Given the description of an element on the screen output the (x, y) to click on. 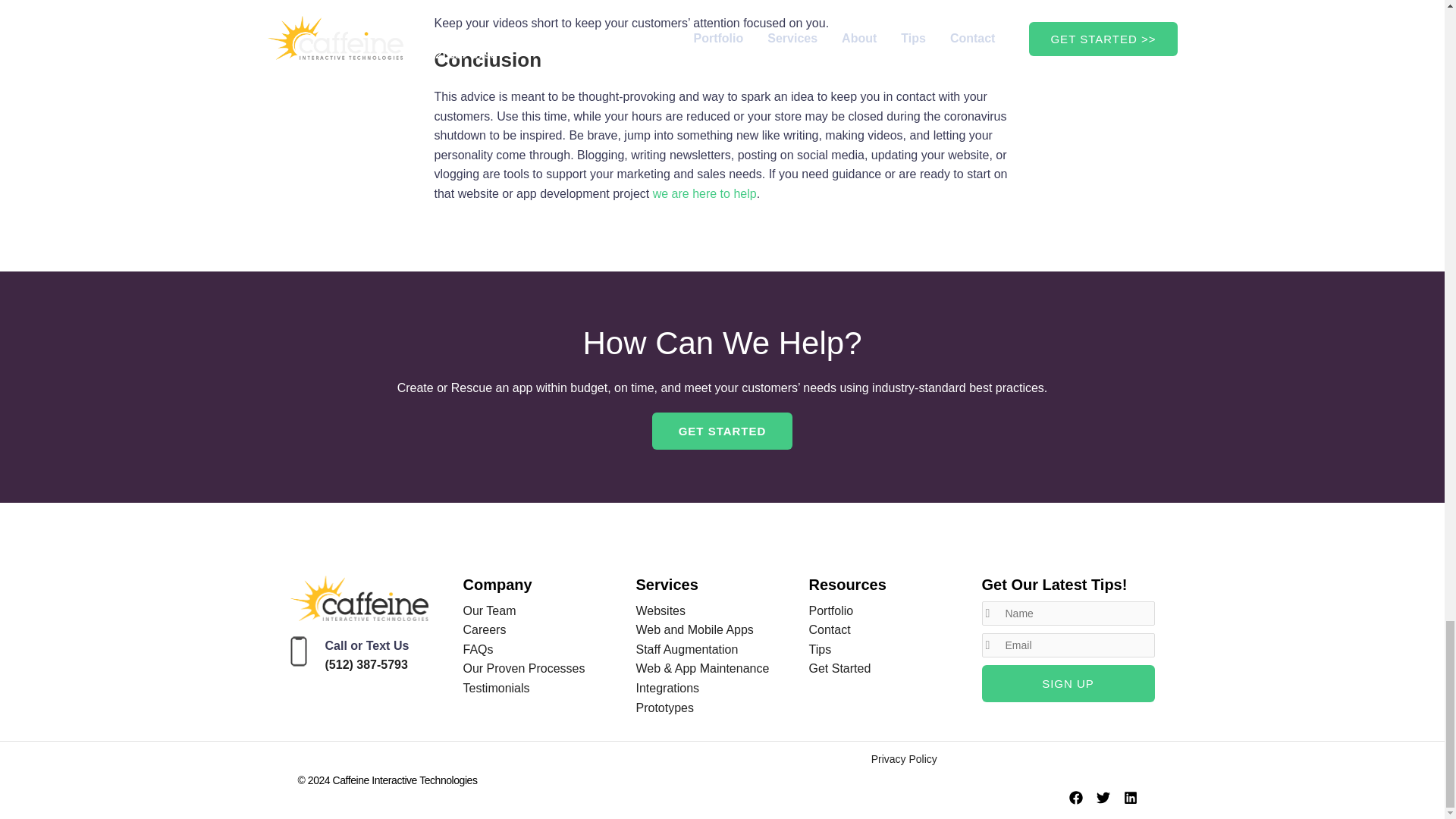
SIGN UP (1067, 683)
